Given the description of an element on the screen output the (x, y) to click on. 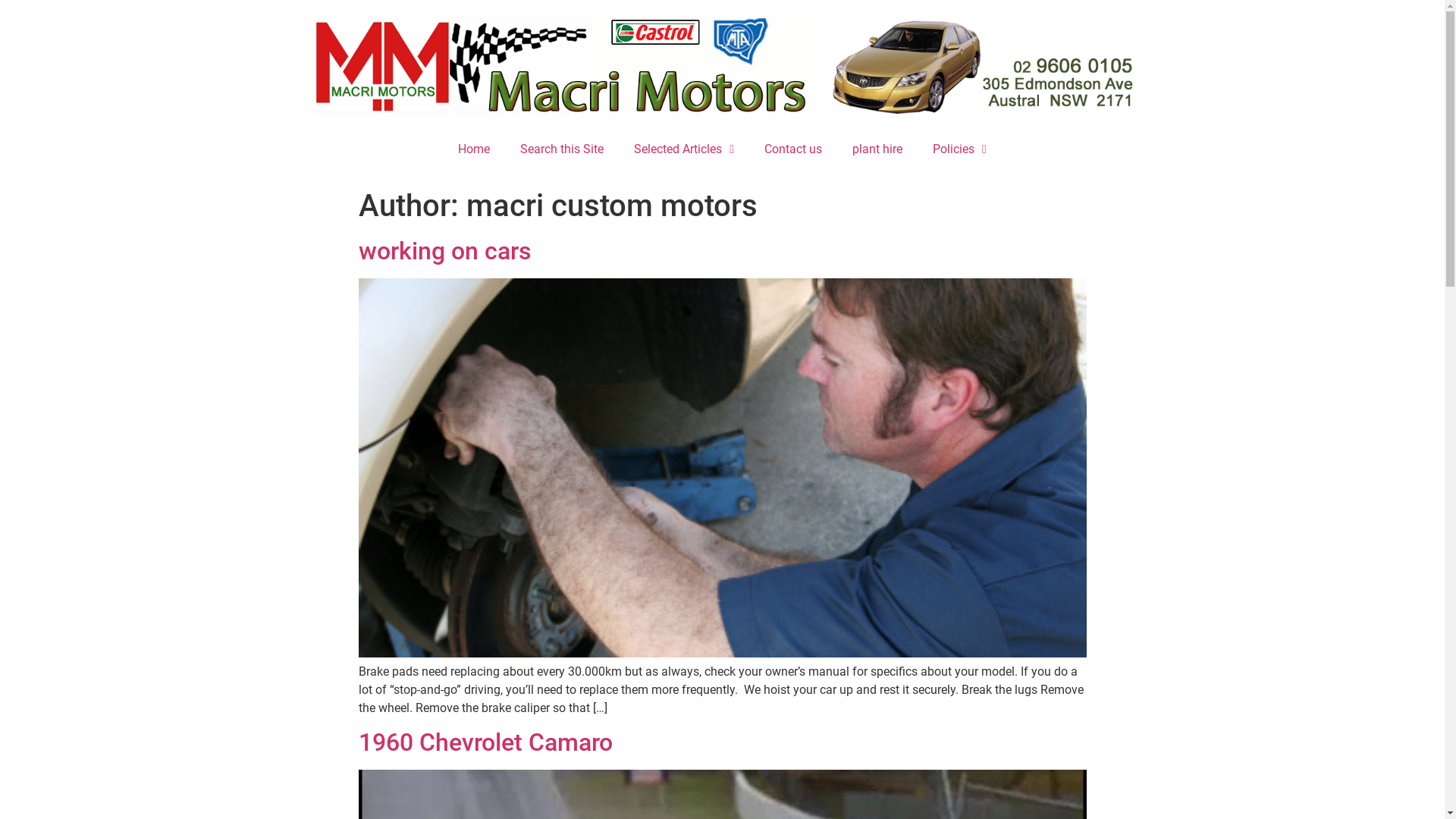
plant hire Element type: text (877, 148)
Home Element type: text (473, 148)
Contact us Element type: text (793, 148)
1960 Chevrolet Camaro Element type: text (484, 742)
Selected Articles Element type: text (683, 148)
working on cars Element type: text (443, 250)
Search this Site Element type: text (561, 148)
Policies Element type: text (959, 148)
